Given the description of an element on the screen output the (x, y) to click on. 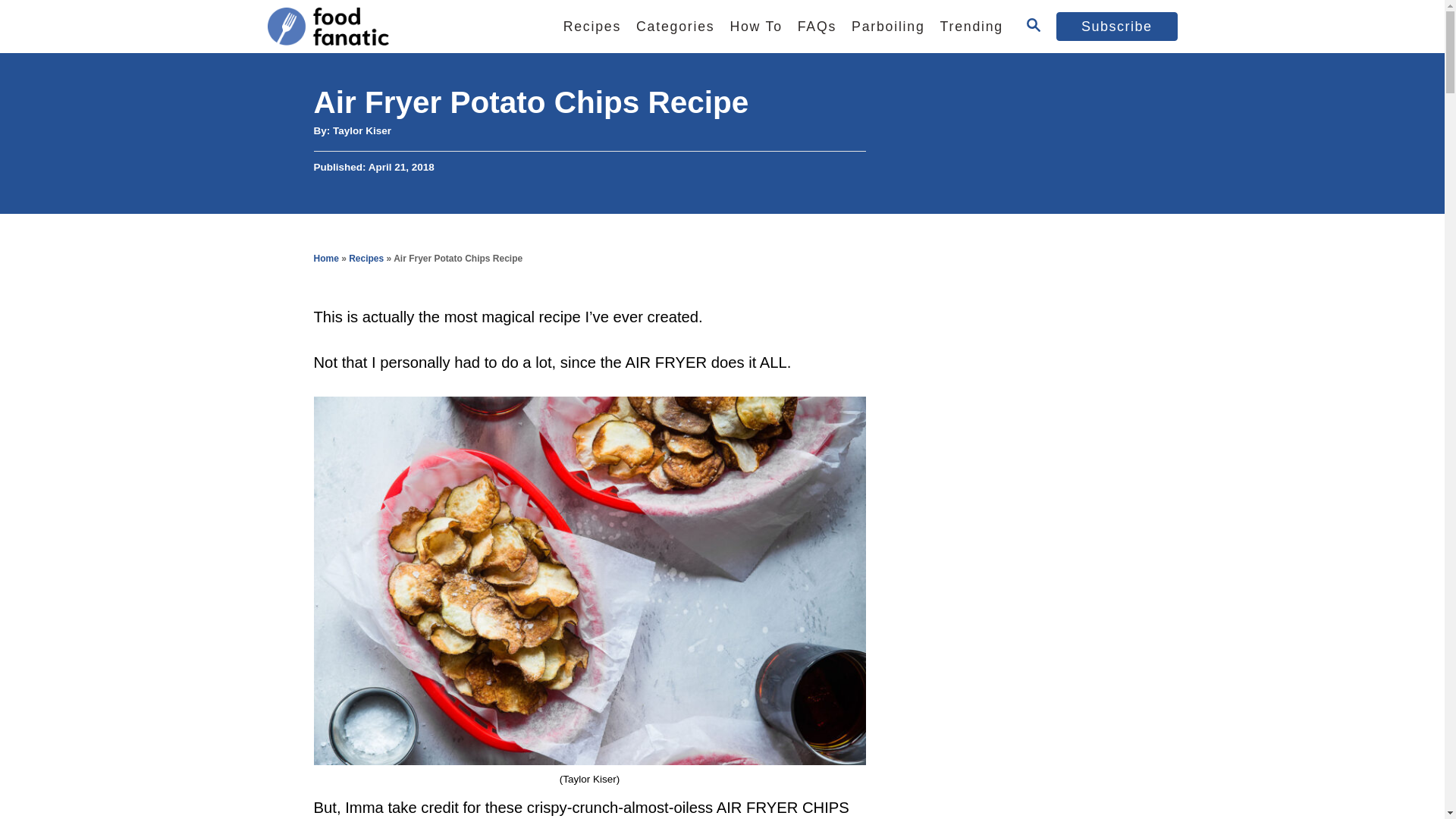
SEARCH (1033, 26)
Categories (675, 26)
How To (755, 26)
Food Fanatic (395, 26)
FAQs (817, 26)
Recipes (592, 26)
